Given the description of an element on the screen output the (x, y) to click on. 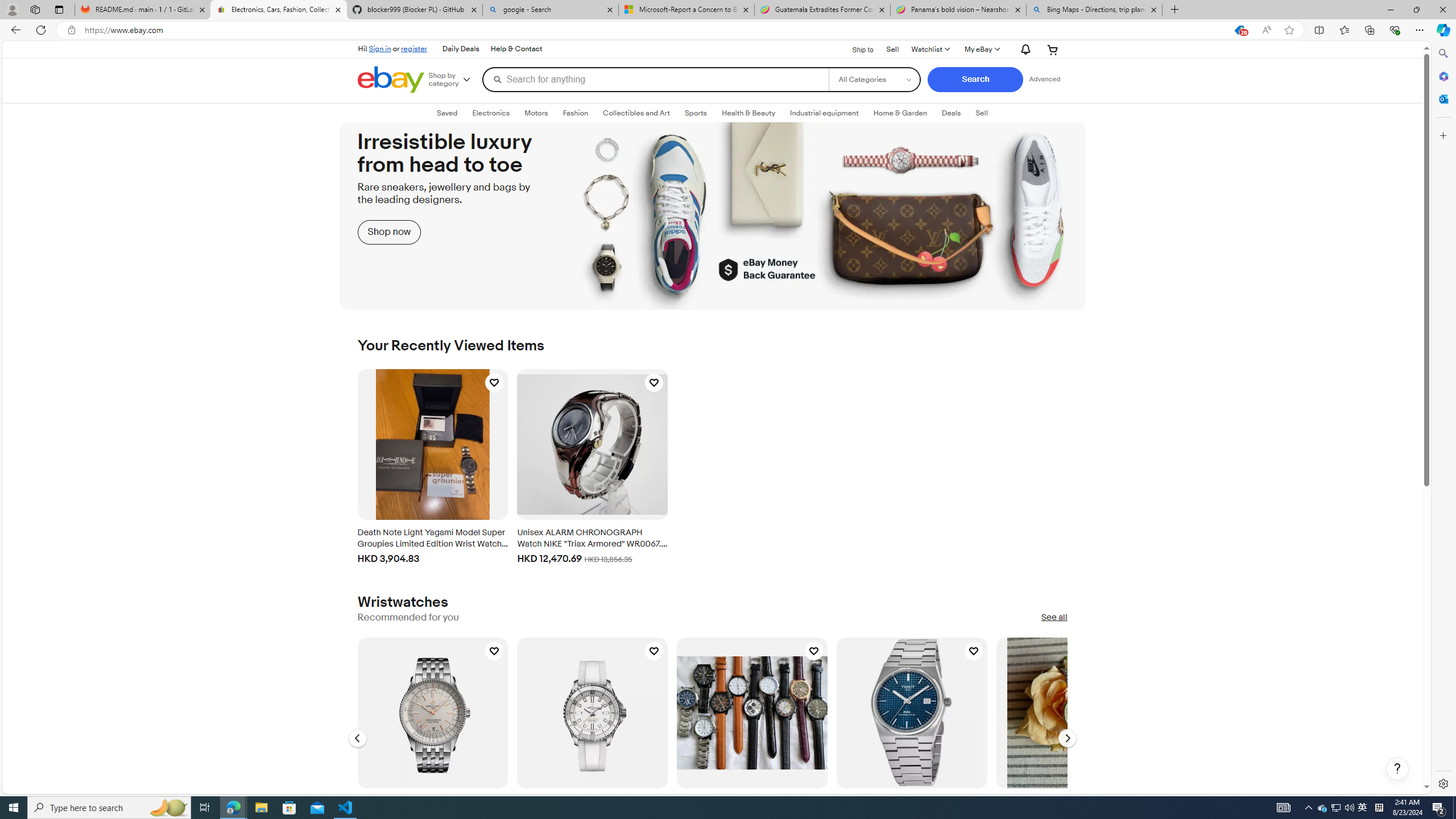
Search for anything (655, 78)
SportsExpand: Sports (695, 112)
Deals (951, 112)
register (414, 48)
My eBay (981, 49)
Wristwatches (402, 601)
FashionExpand: Fashion (574, 112)
